Given the description of an element on the screen output the (x, y) to click on. 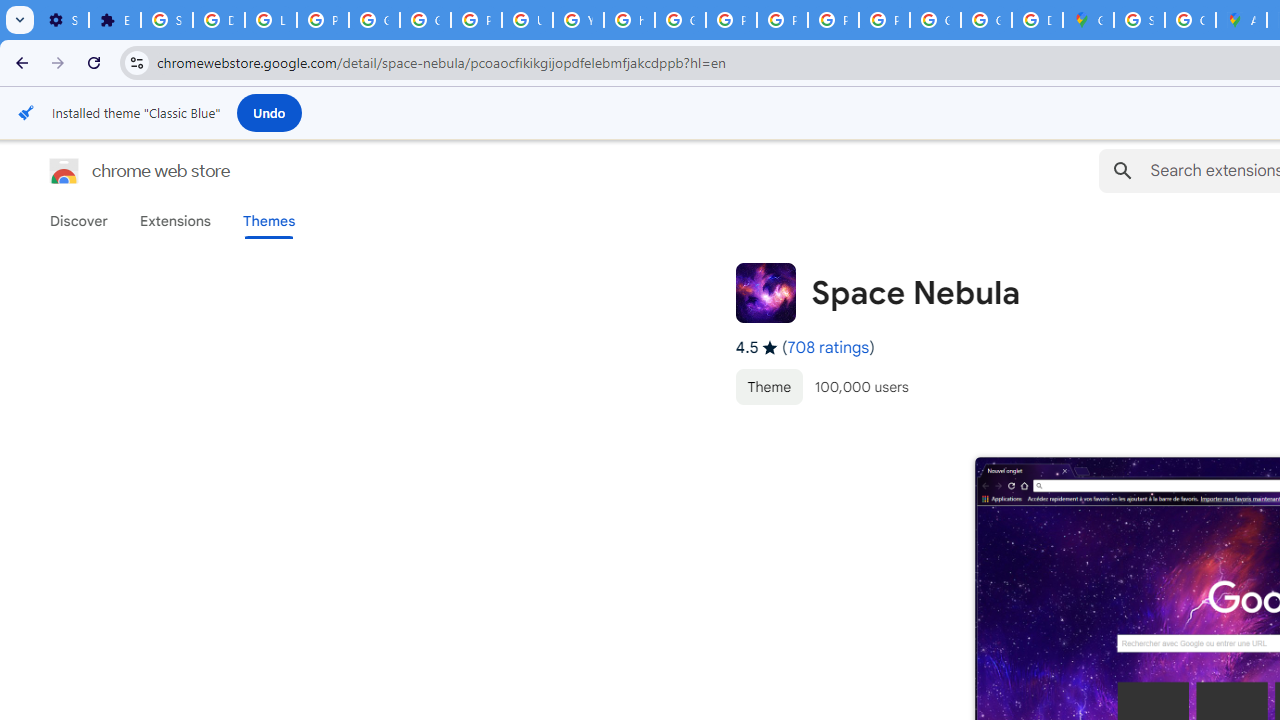
Settings - On startup (63, 20)
System (10, 11)
https://scholar.google.com/ (629, 20)
Sign in - Google Accounts (166, 20)
Google Account Help (374, 20)
Themes (269, 221)
Undo (269, 112)
Google Account Help (424, 20)
